Given the description of an element on the screen output the (x, y) to click on. 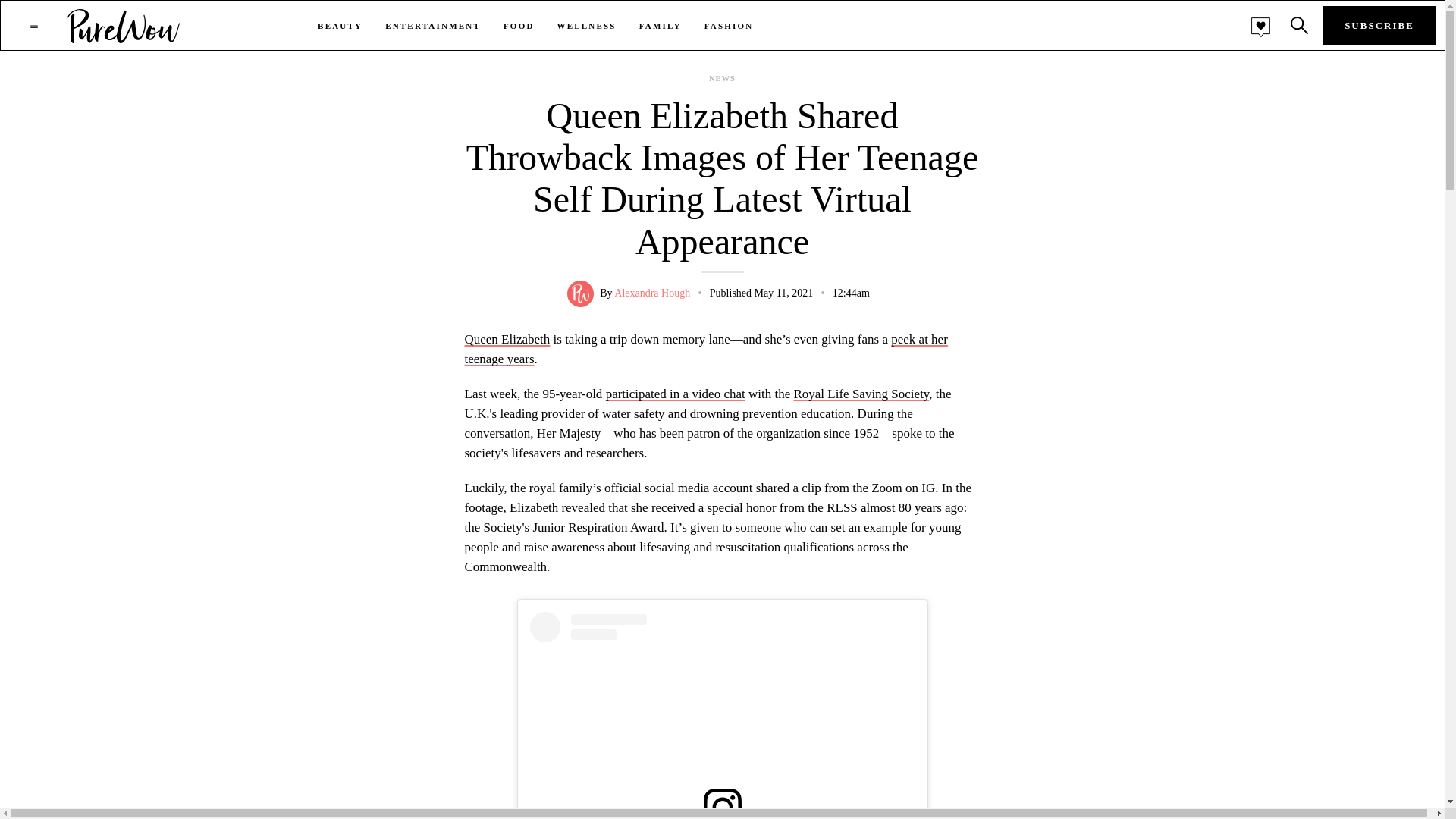
WELLNESS (586, 25)
Alexandra Hough (652, 292)
SUBSCRIBE (1379, 25)
PureWow (123, 25)
NEWS (722, 78)
BEAUTY (339, 25)
FASHION (729, 25)
FAMILY (660, 25)
FOOD (518, 25)
ENTERTAINMENT (432, 25)
